Given the description of an element on the screen output the (x, y) to click on. 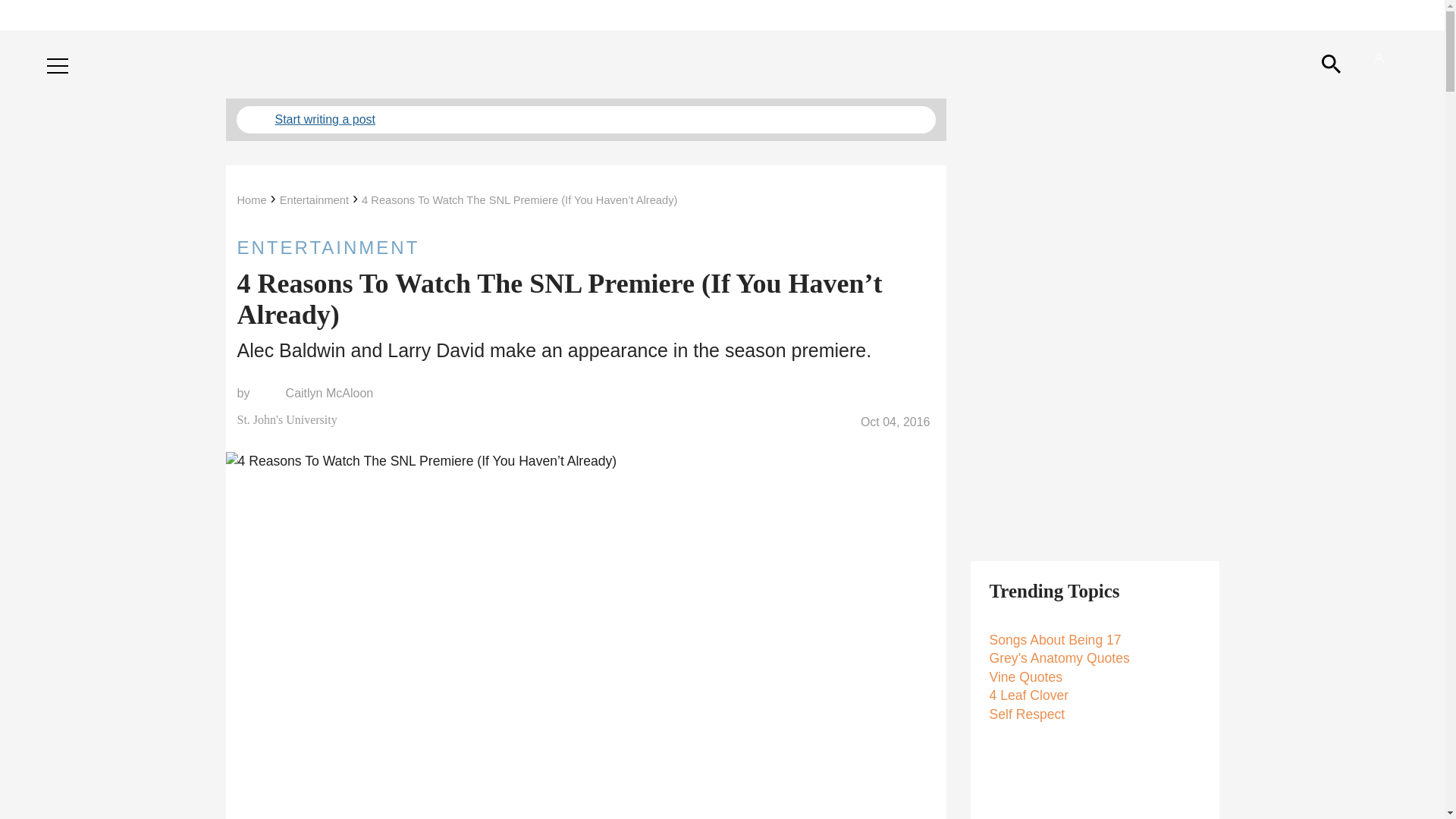
Caitlyn McAloon (329, 393)
ENTERTAINMENT (584, 248)
Entertainment (314, 200)
Home (250, 200)
Start writing a post (585, 119)
